Given the description of an element on the screen output the (x, y) to click on. 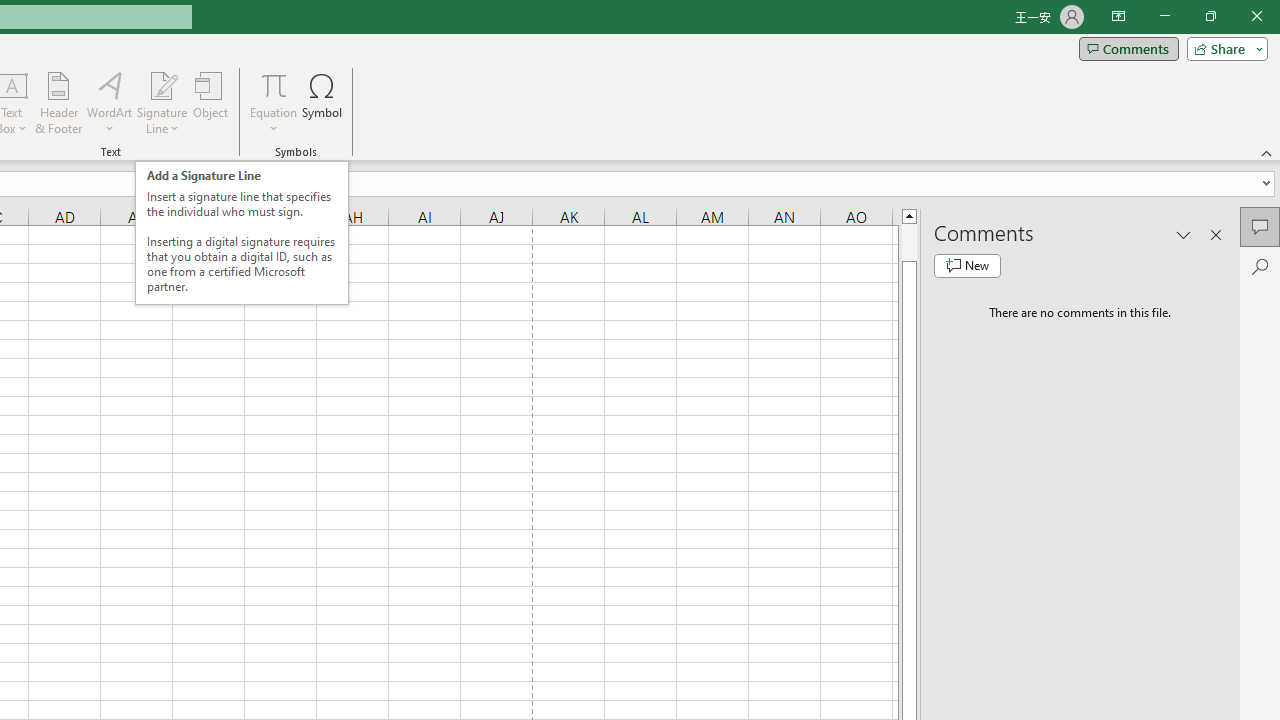
New comment (967, 265)
Page up (909, 241)
Header & Footer... (58, 102)
Equation (273, 102)
Object... (210, 102)
Symbol... (322, 102)
